Given the description of an element on the screen output the (x, y) to click on. 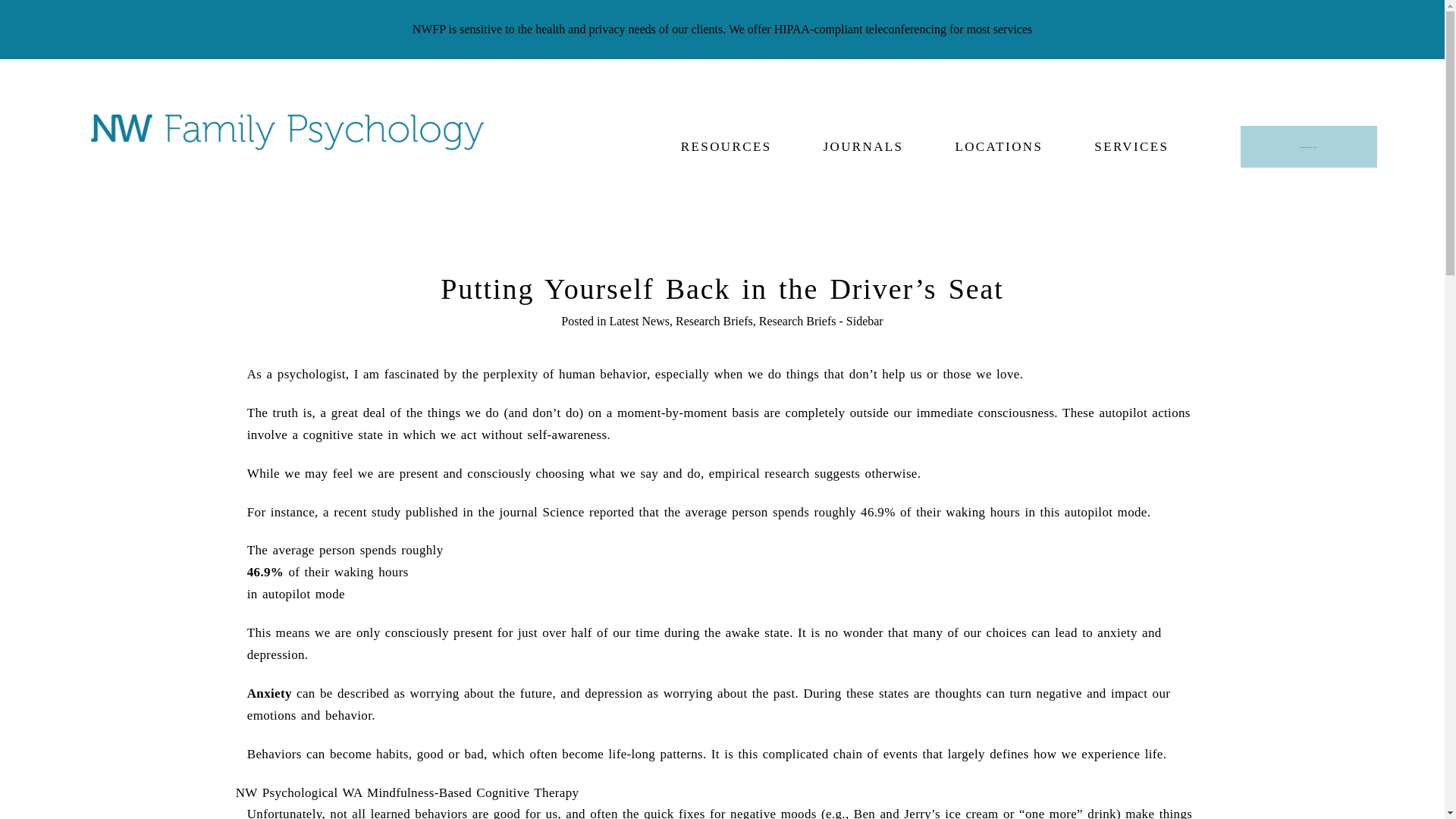
LOCATIONS (998, 146)
SERVICES (1131, 146)
RESOURCES (726, 146)
CONTACT US (1308, 146)
Research Briefs - Sidebar (820, 320)
JOURNALS (862, 146)
Research Briefs (713, 320)
Latest News (638, 320)
